Given the description of an element on the screen output the (x, y) to click on. 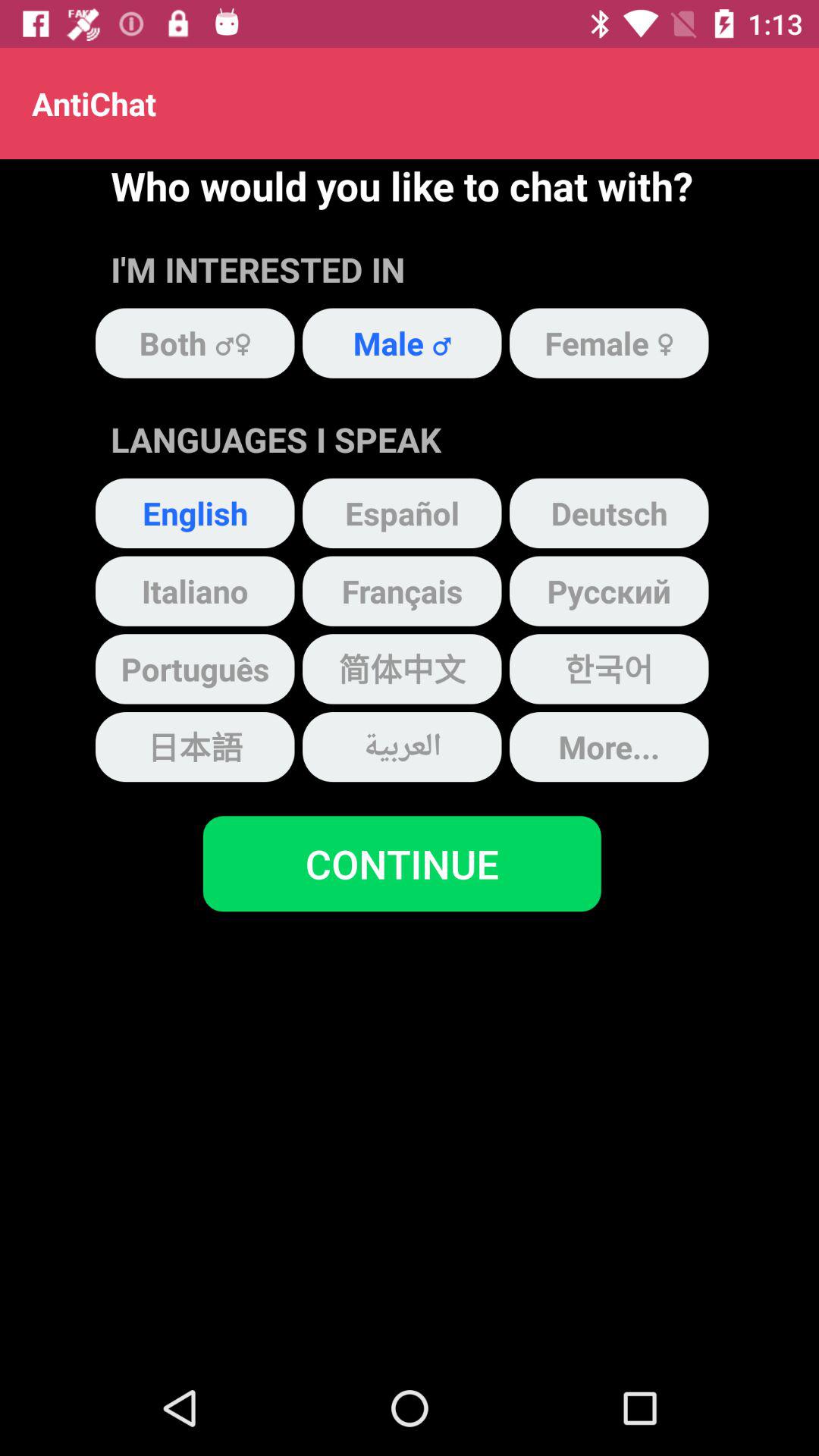
choose the item below the languages i speak icon (401, 513)
